Given the description of an element on the screen output the (x, y) to click on. 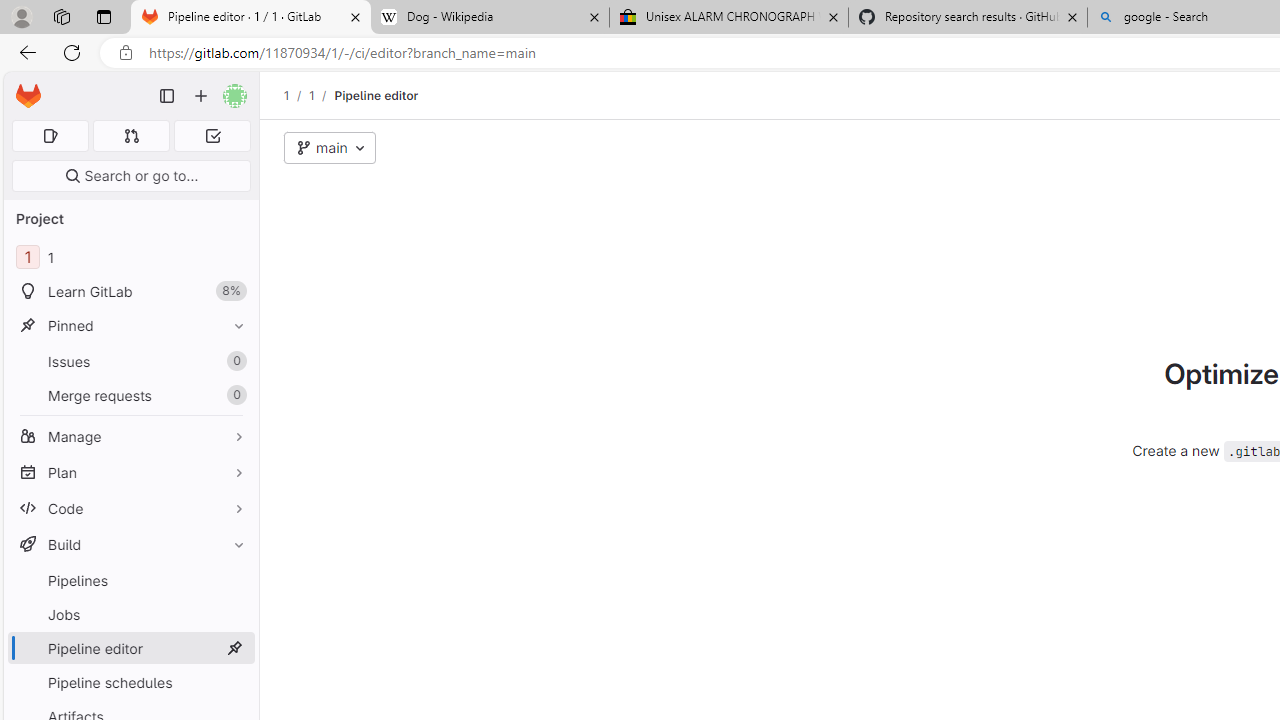
Pin Pipeline schedules (234, 682)
Merge requests0 (130, 394)
Jobs (130, 614)
Plan (130, 471)
Pin Pipeline editor (234, 647)
Code (130, 507)
Unpin Merge requests (234, 395)
Primary navigation sidebar (167, 96)
Plan (130, 471)
Pinned (130, 325)
